Given the description of an element on the screen output the (x, y) to click on. 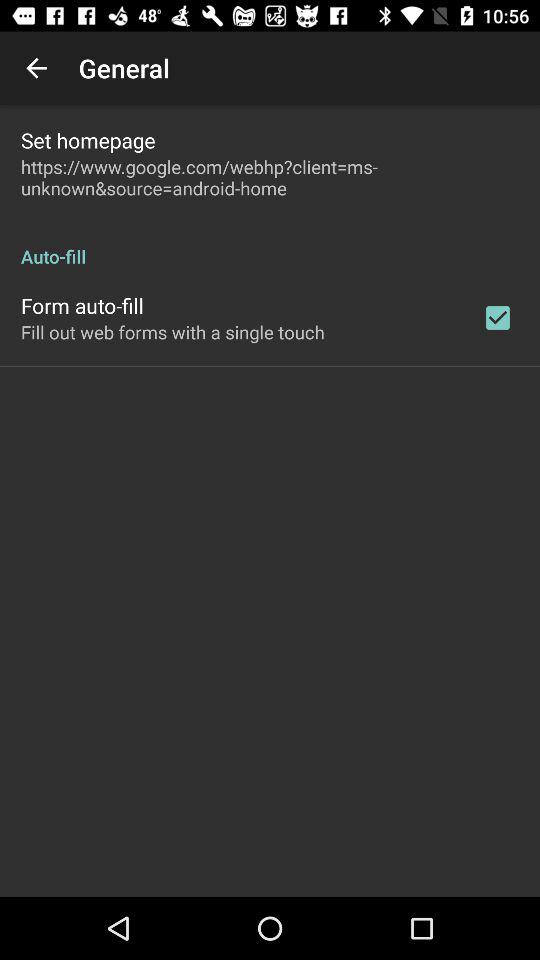
turn off the icon to the left of the general (36, 68)
